Given the description of an element on the screen output the (x, y) to click on. 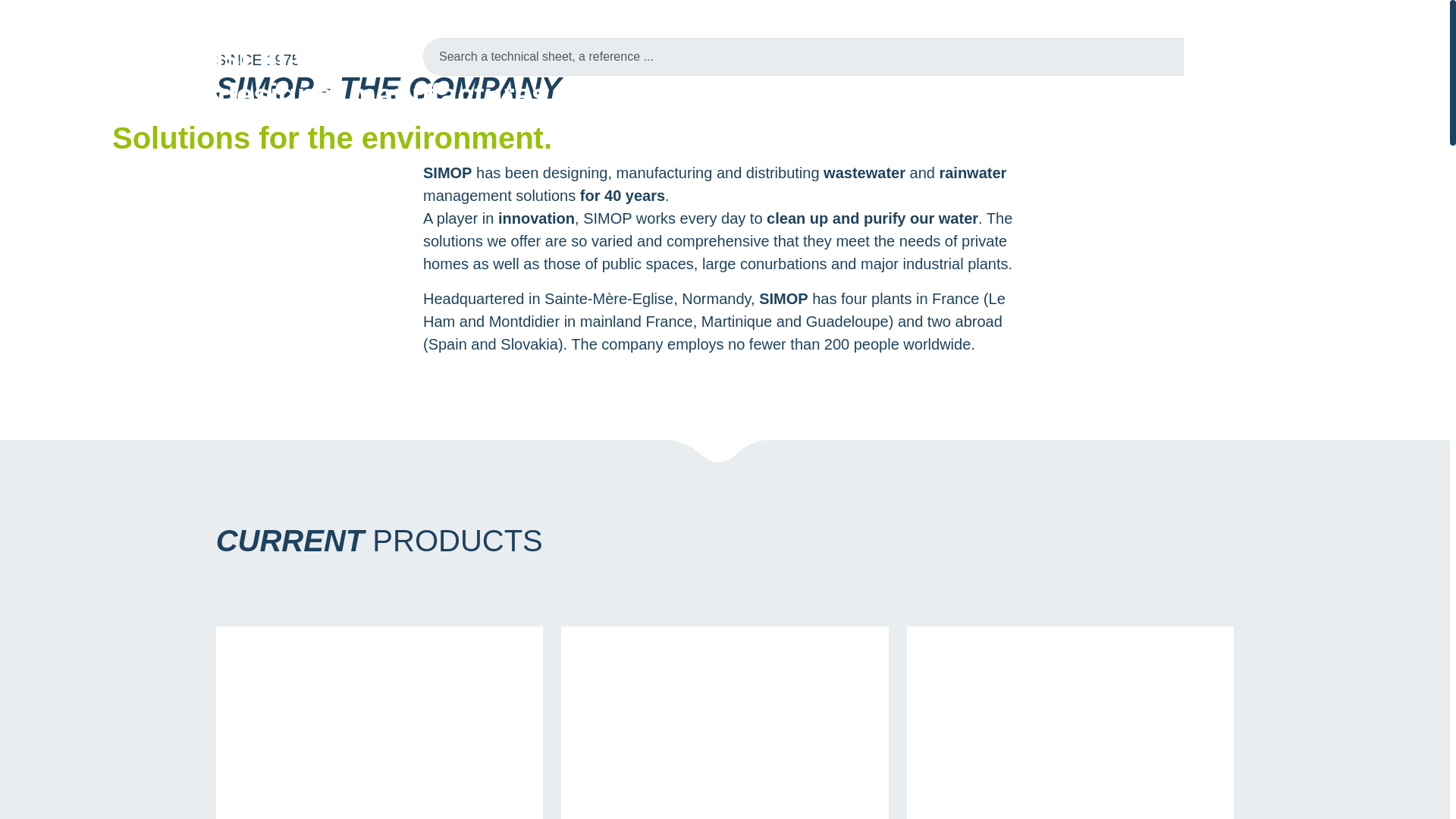
Compact filter BIONUT 4 to 20 PE 6 (1058, 728)
BIOXYMOP Max Microstation 51 to 980 PE 5 (711, 728)
TRITHON Polyethylene hydrodynamic separator 4 (366, 728)
